Given the description of an element on the screen output the (x, y) to click on. 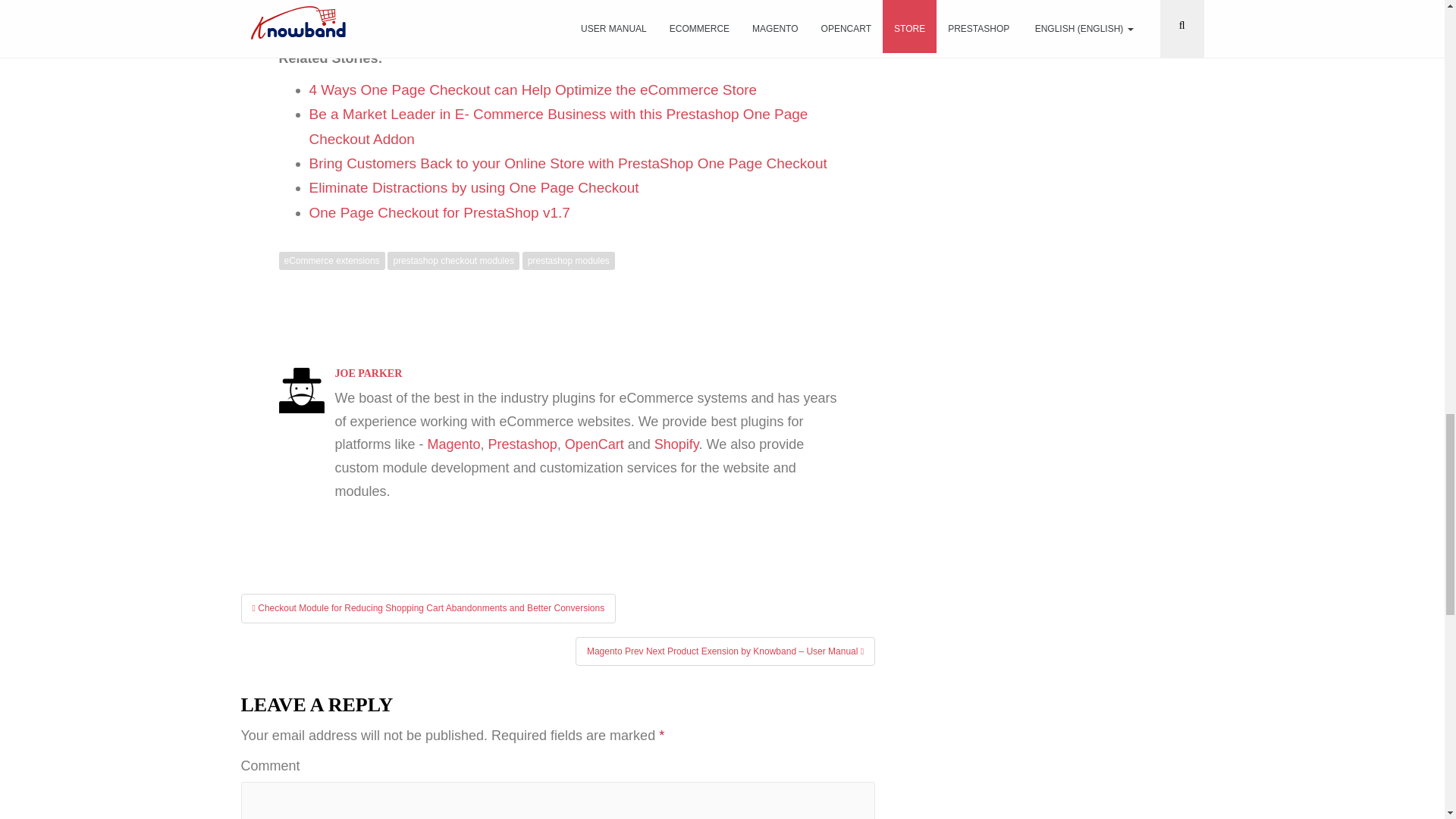
One Page Checkout for PrestaShop v1.7 (439, 212)
Magento (454, 444)
prestashop checkout modules (452, 260)
prestashop modules (568, 260)
eCommerce extensions (332, 260)
JOE PARKER (368, 373)
OpenCart (594, 444)
Prestashop (522, 444)
Shopify (675, 444)
Eliminate Distractions by using One Page Checkout (473, 187)
